Given the description of an element on the screen output the (x, y) to click on. 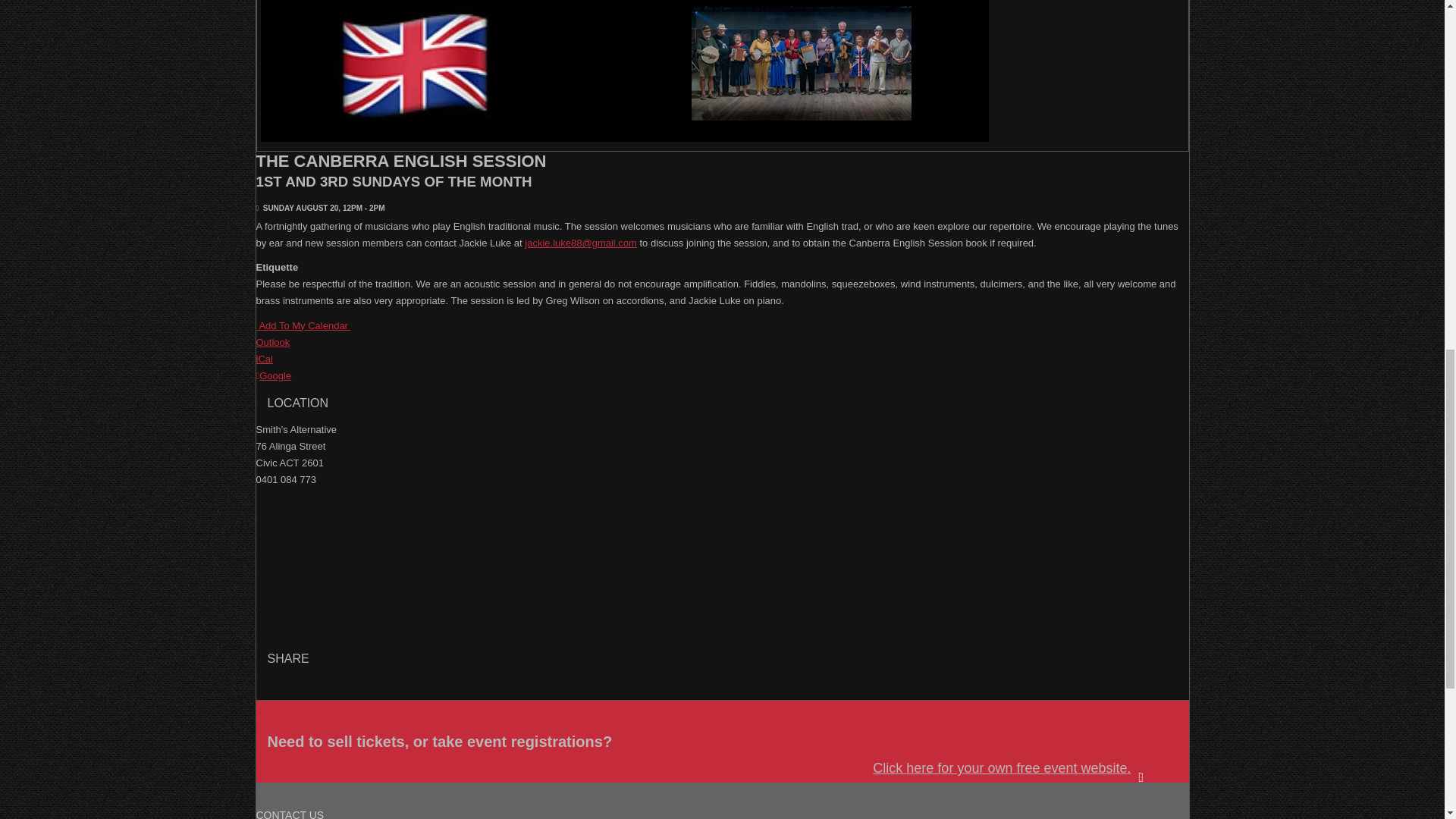
Click here for your own free event website. (1018, 768)
iCal (264, 358)
event ticketing (1018, 768)
Google (274, 375)
Outlook (272, 342)
 Add To My Calendar  (304, 325)
